Given the description of an element on the screen output the (x, y) to click on. 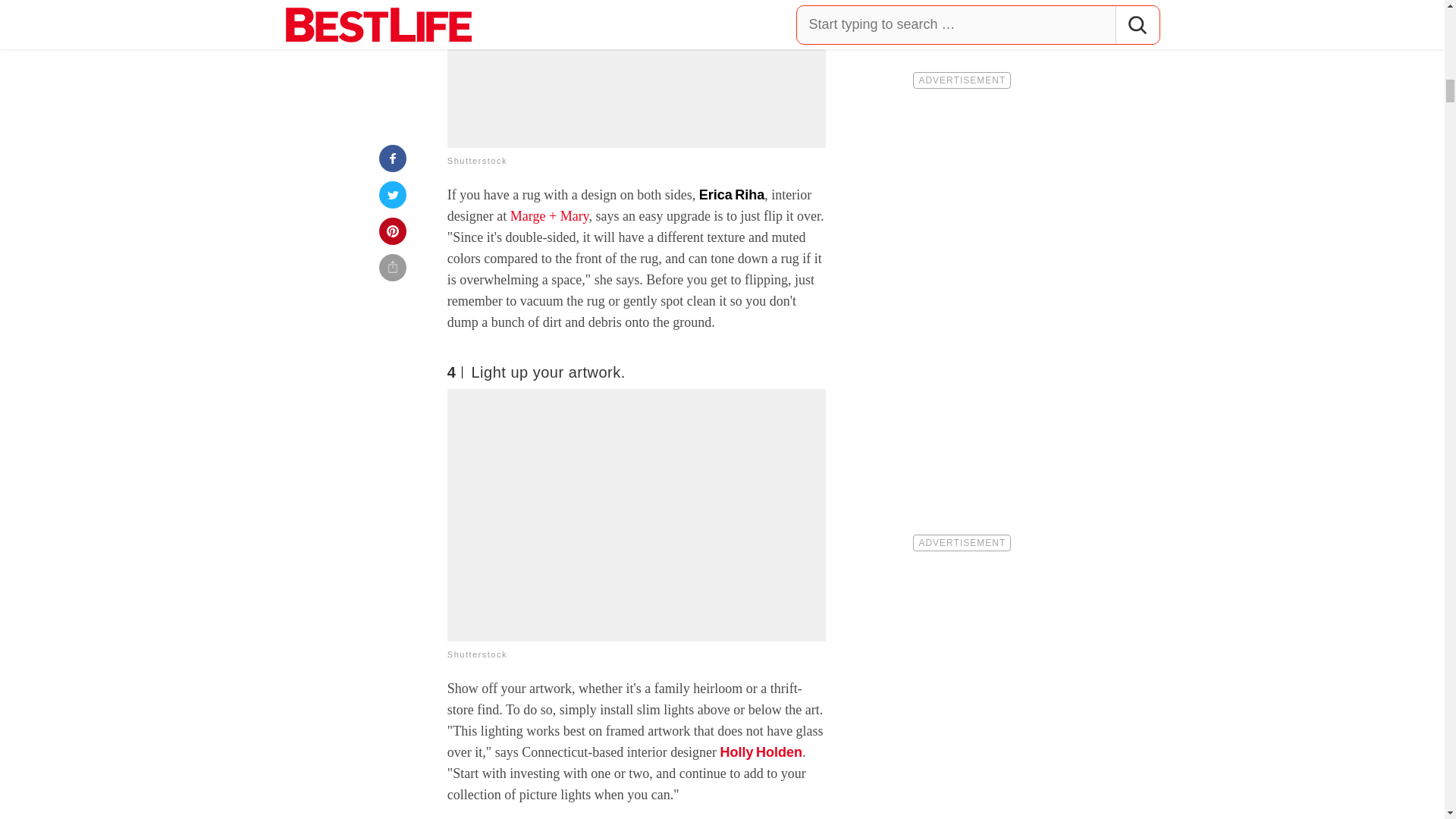
Holly Holden (761, 752)
